Given the description of an element on the screen output the (x, y) to click on. 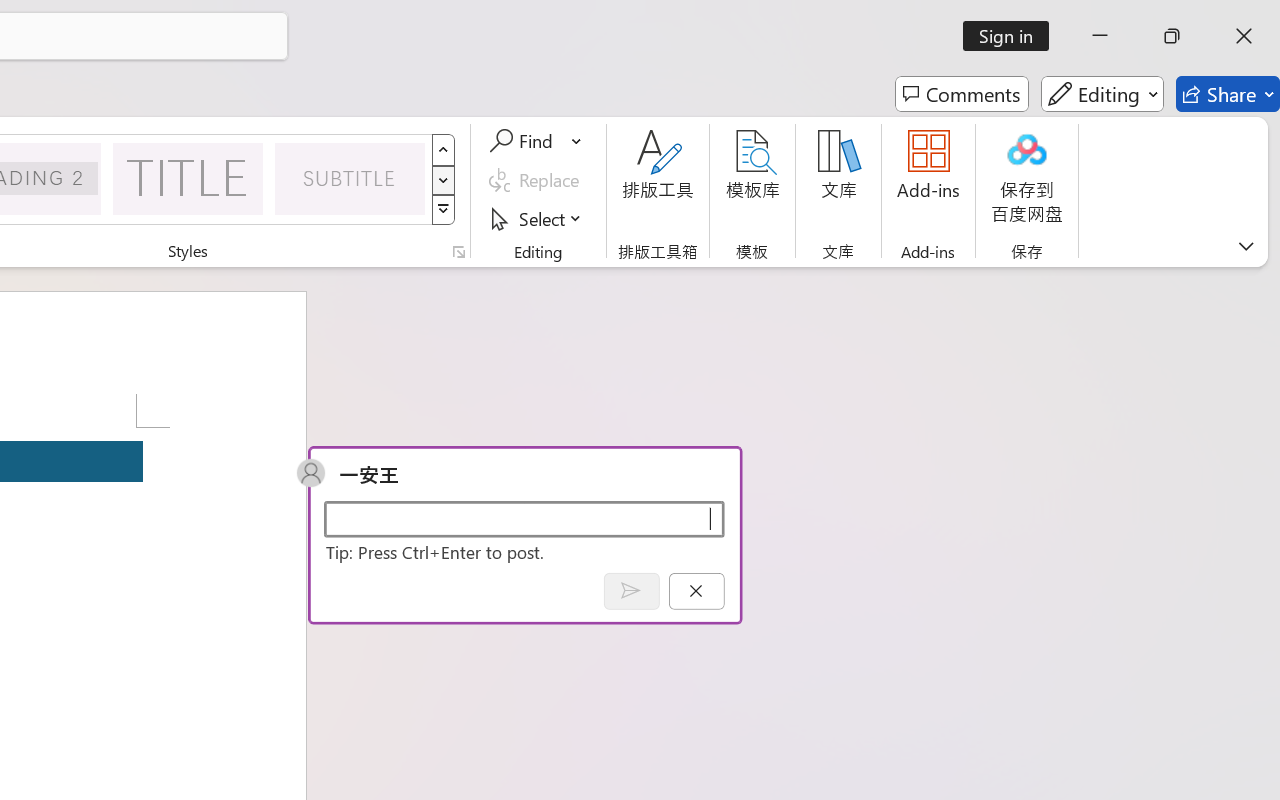
Editing (1101, 94)
Start a conversation (524, 518)
Subtitle (349, 178)
Post comment (Ctrl + Enter) (630, 590)
